Given the description of an element on the screen output the (x, y) to click on. 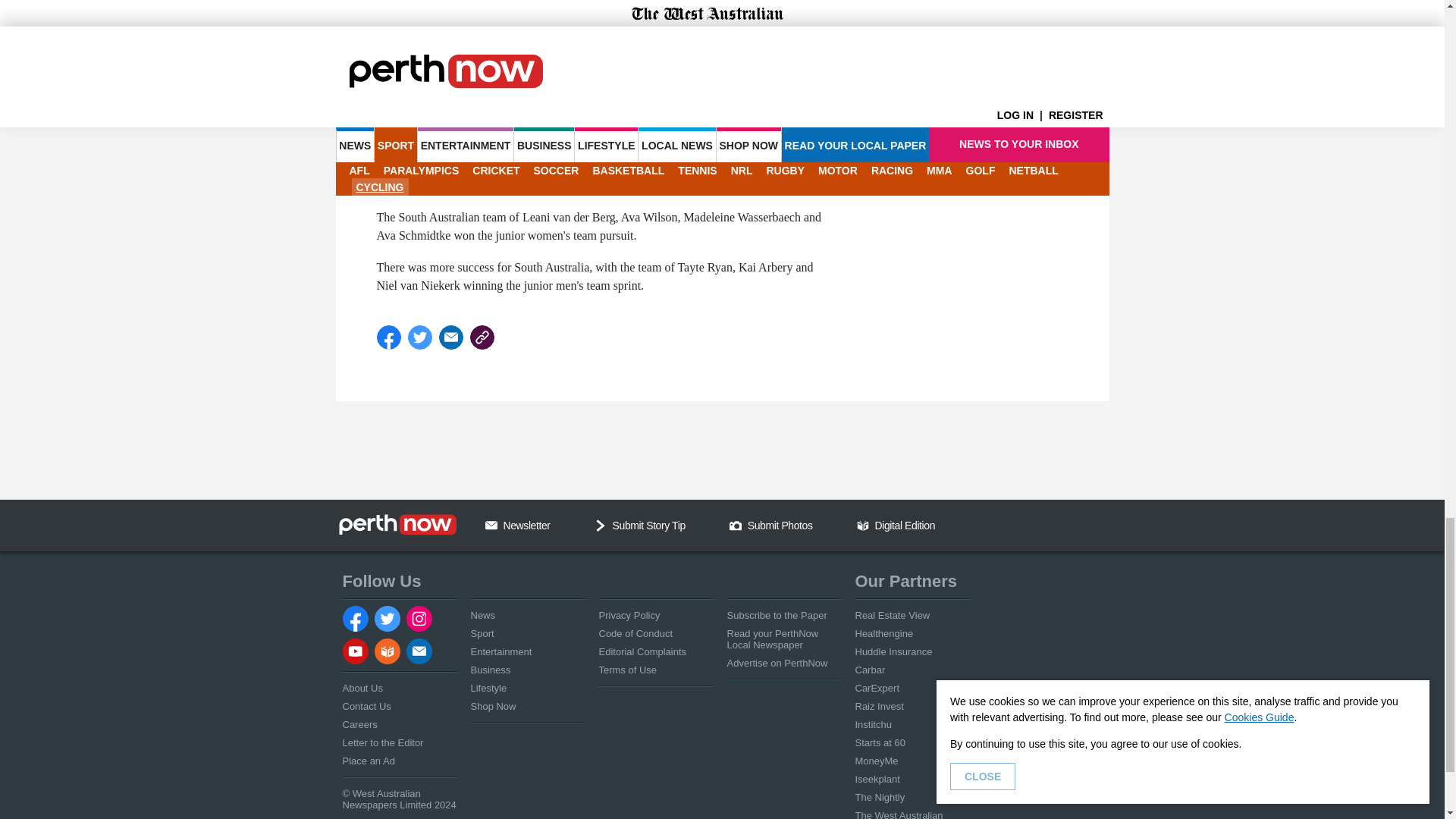
Email Us (490, 525)
Get Digital Edition (863, 525)
Camera Icon (735, 525)
Chevron Down Icon (600, 525)
